Given the description of an element on the screen output the (x, y) to click on. 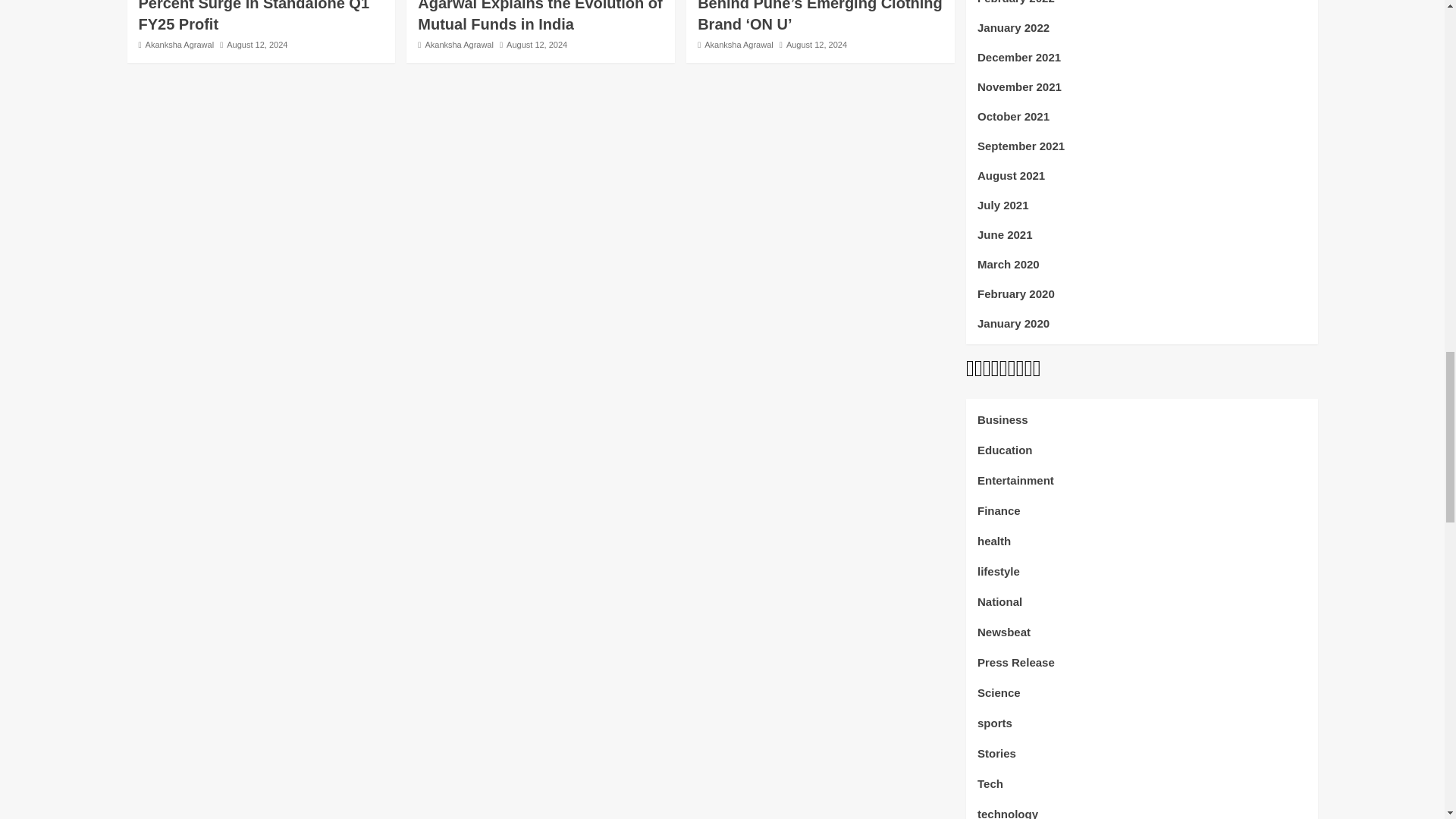
August 12, 2024 (536, 44)
Akanksha Agrawal (179, 44)
Akanksha Agrawal (459, 44)
August 12, 2024 (256, 44)
